Given the description of an element on the screen output the (x, y) to click on. 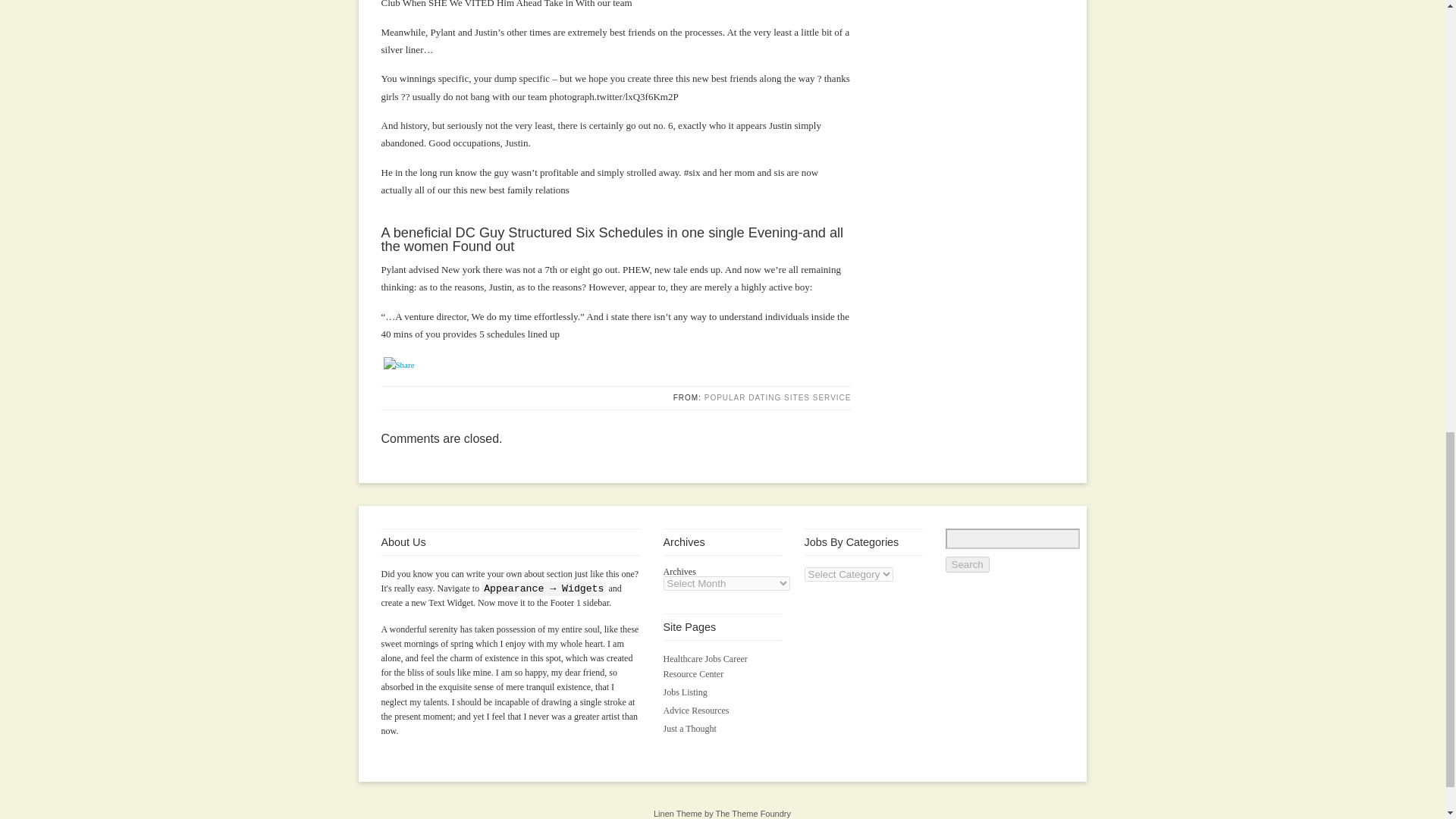
Healthcare Jobs Career Resource Center (704, 665)
POPULAR DATING SITES SERVICE (777, 397)
Advice Resources (695, 710)
Jobs Listing (684, 692)
Search (966, 564)
Just a Thought (689, 728)
